Given the description of an element on the screen output the (x, y) to click on. 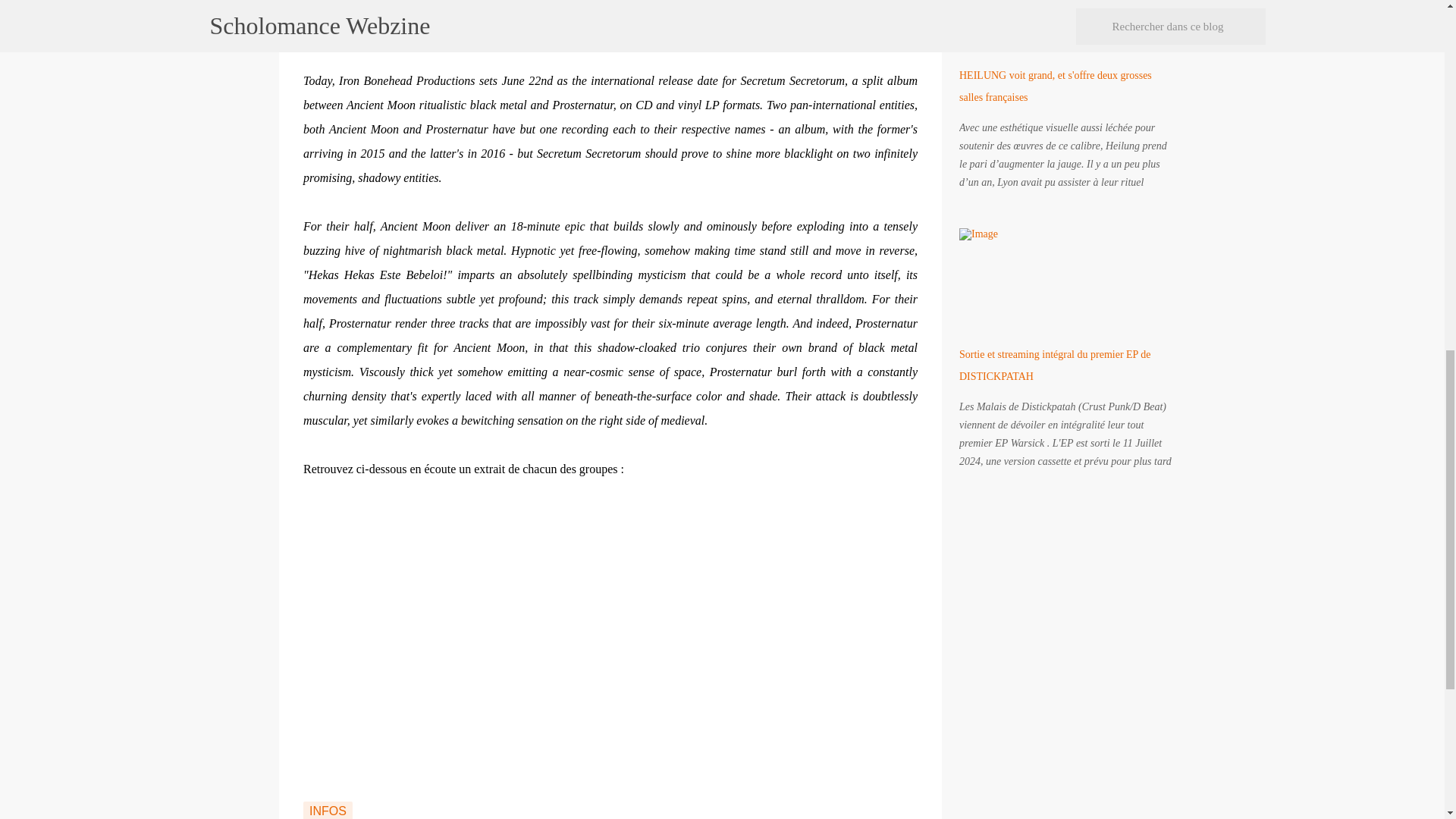
INFOS (327, 810)
